Given the description of an element on the screen output the (x, y) to click on. 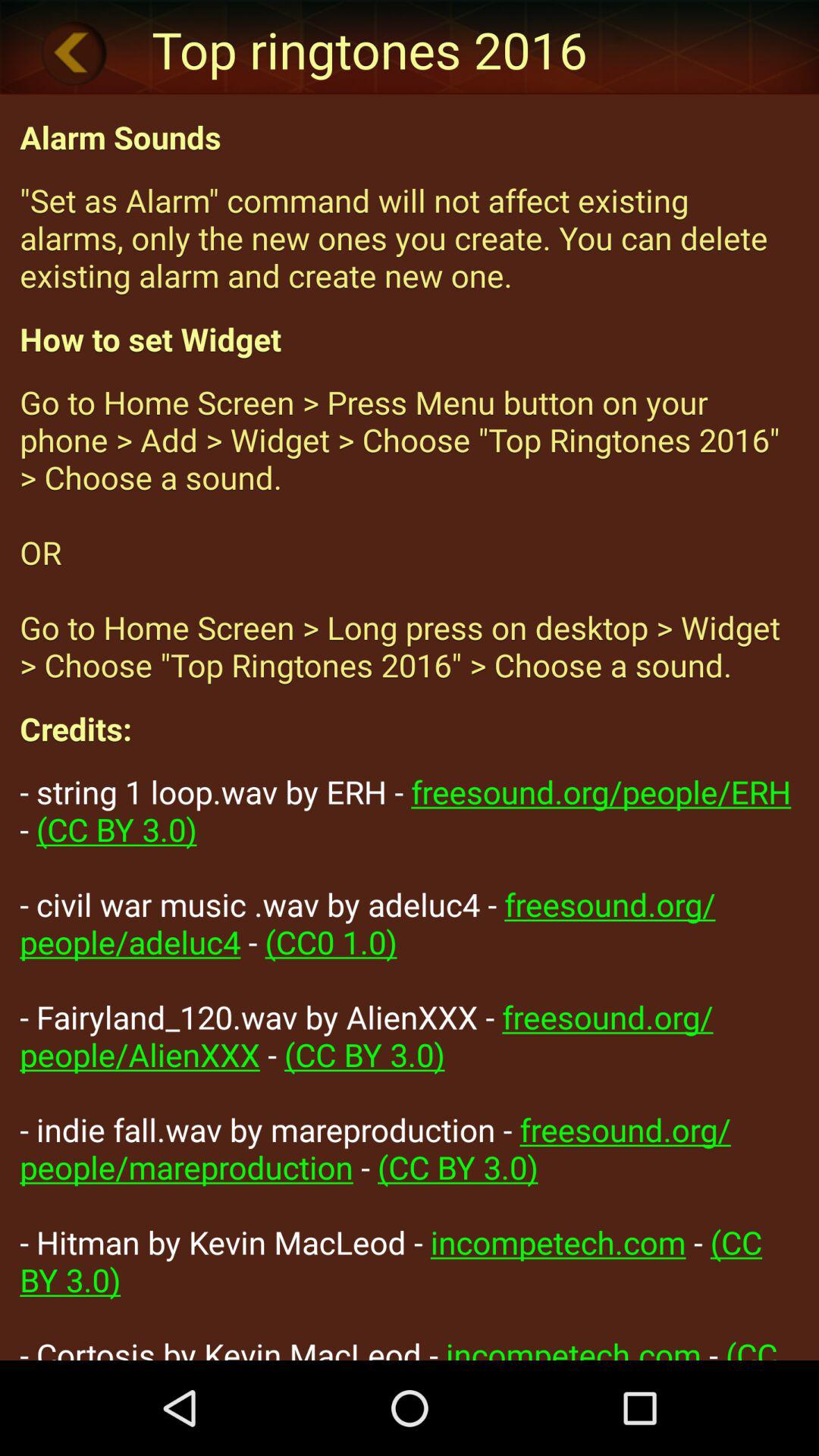
turn off the string 1 loop item (409, 1065)
